Given the description of an element on the screen output the (x, y) to click on. 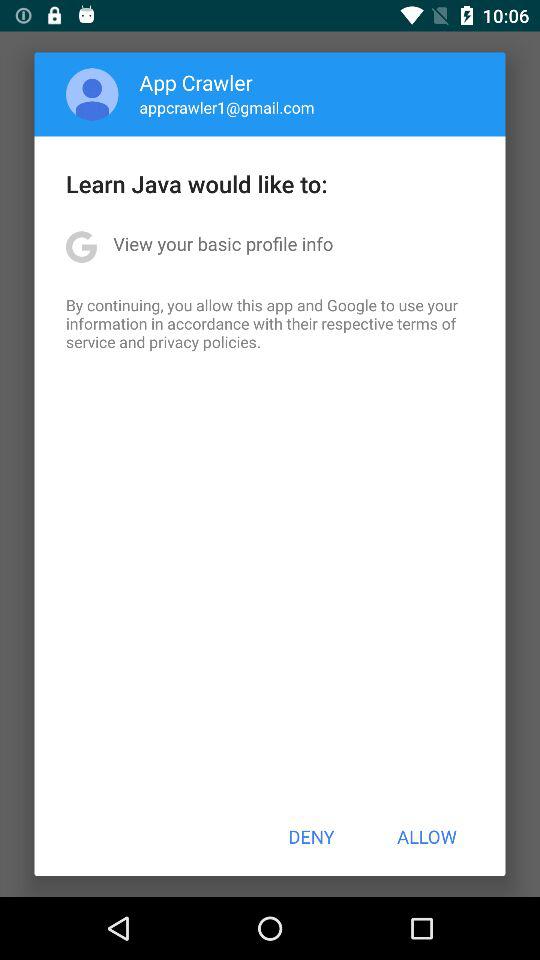
choose appcrawler1@gmail.com app (226, 107)
